Given the description of an element on the screen output the (x, y) to click on. 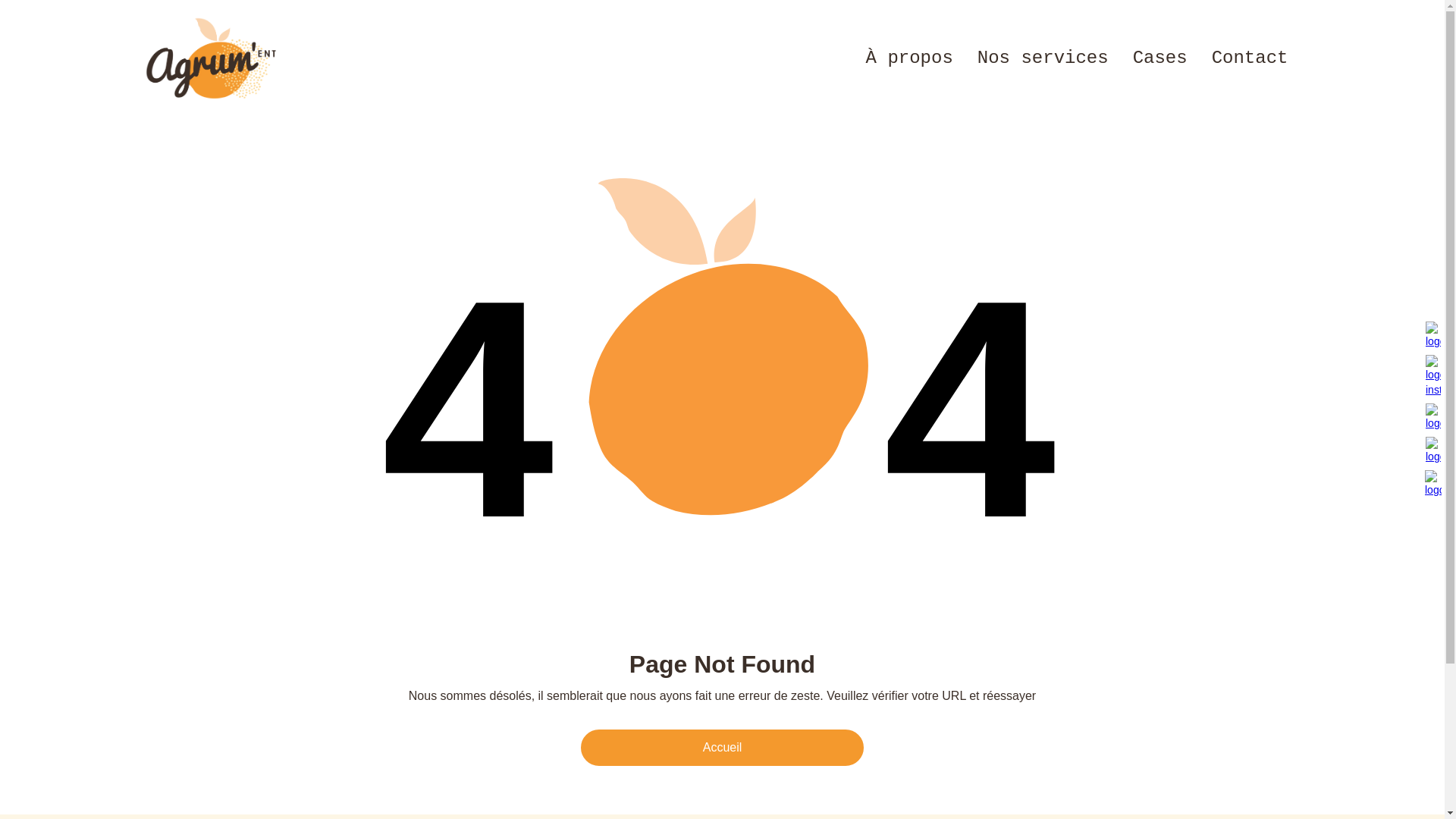
Nos services Element type: text (1042, 58)
Cases Element type: text (1159, 58)
Accueil Element type: text (721, 747)
Contact Element type: text (1249, 58)
